Given the description of an element on the screen output the (x, y) to click on. 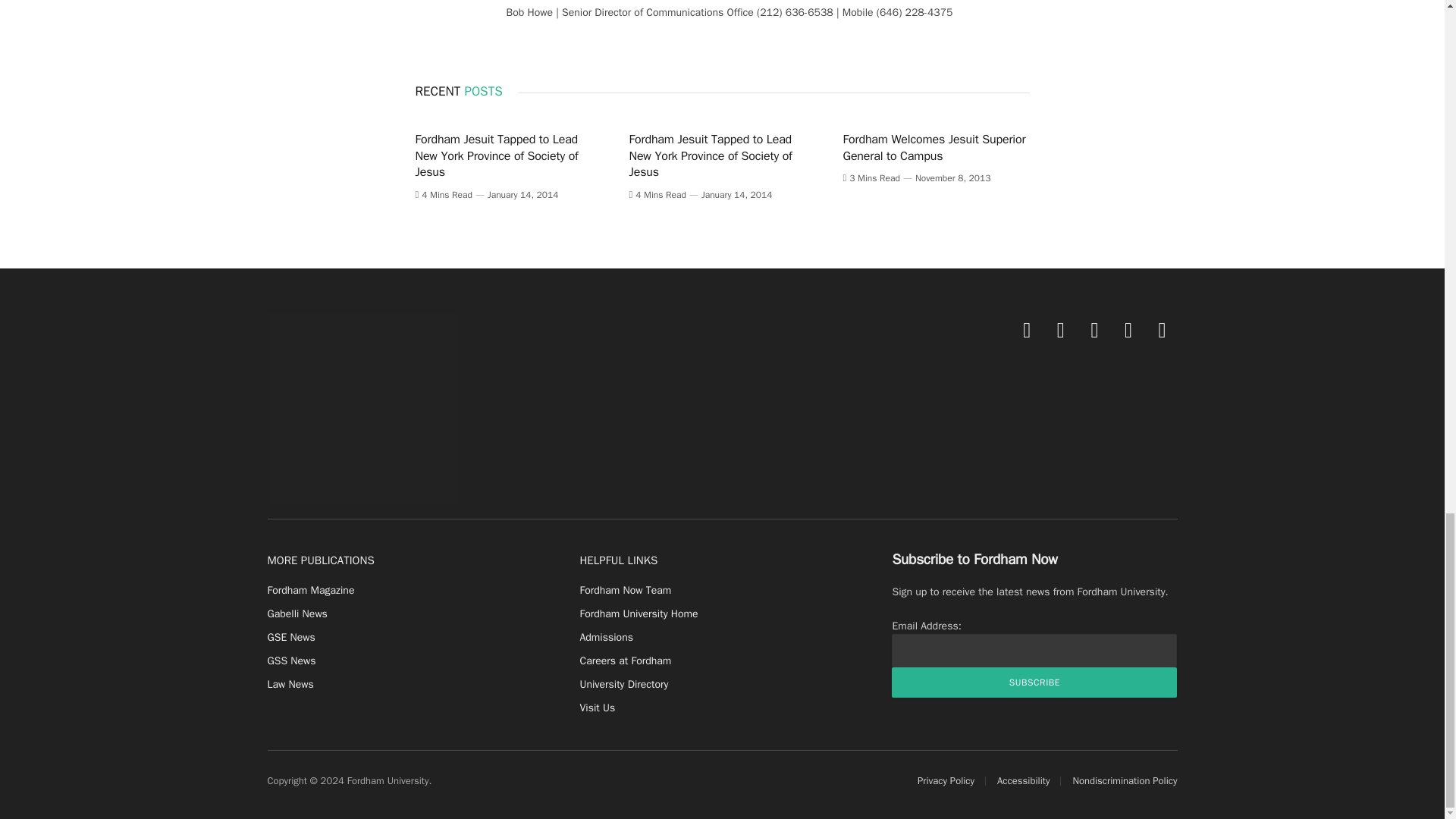
Subscribe (1033, 682)
